Given the description of an element on the screen output the (x, y) to click on. 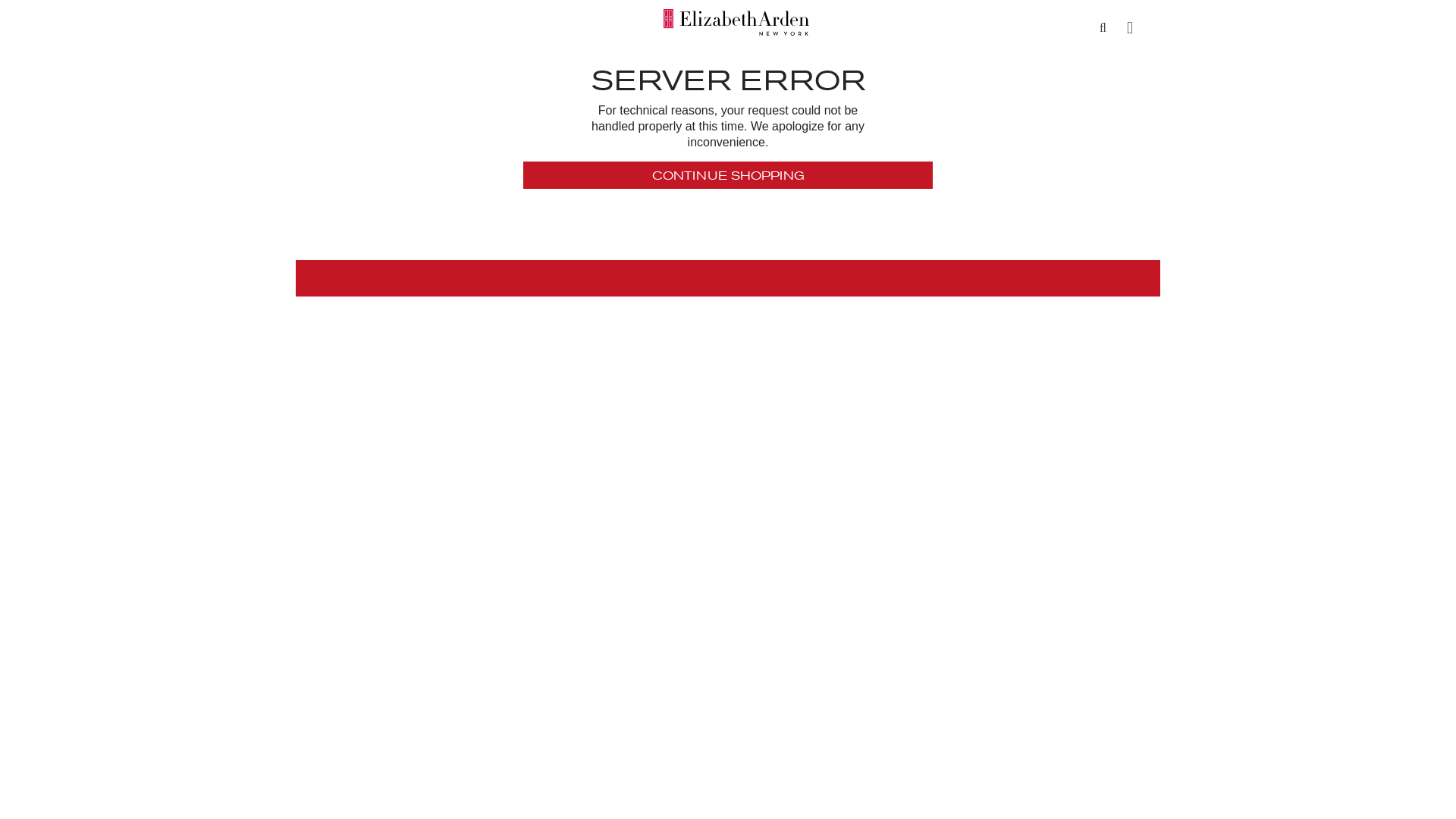
Store Locator Element type: text (1129, 27)
CONTINUE SHOPPING Element type: text (727, 175)
Elizabeth Arden Australia Home Element type: hover (736, 21)
